Given the description of an element on the screen output the (x, y) to click on. 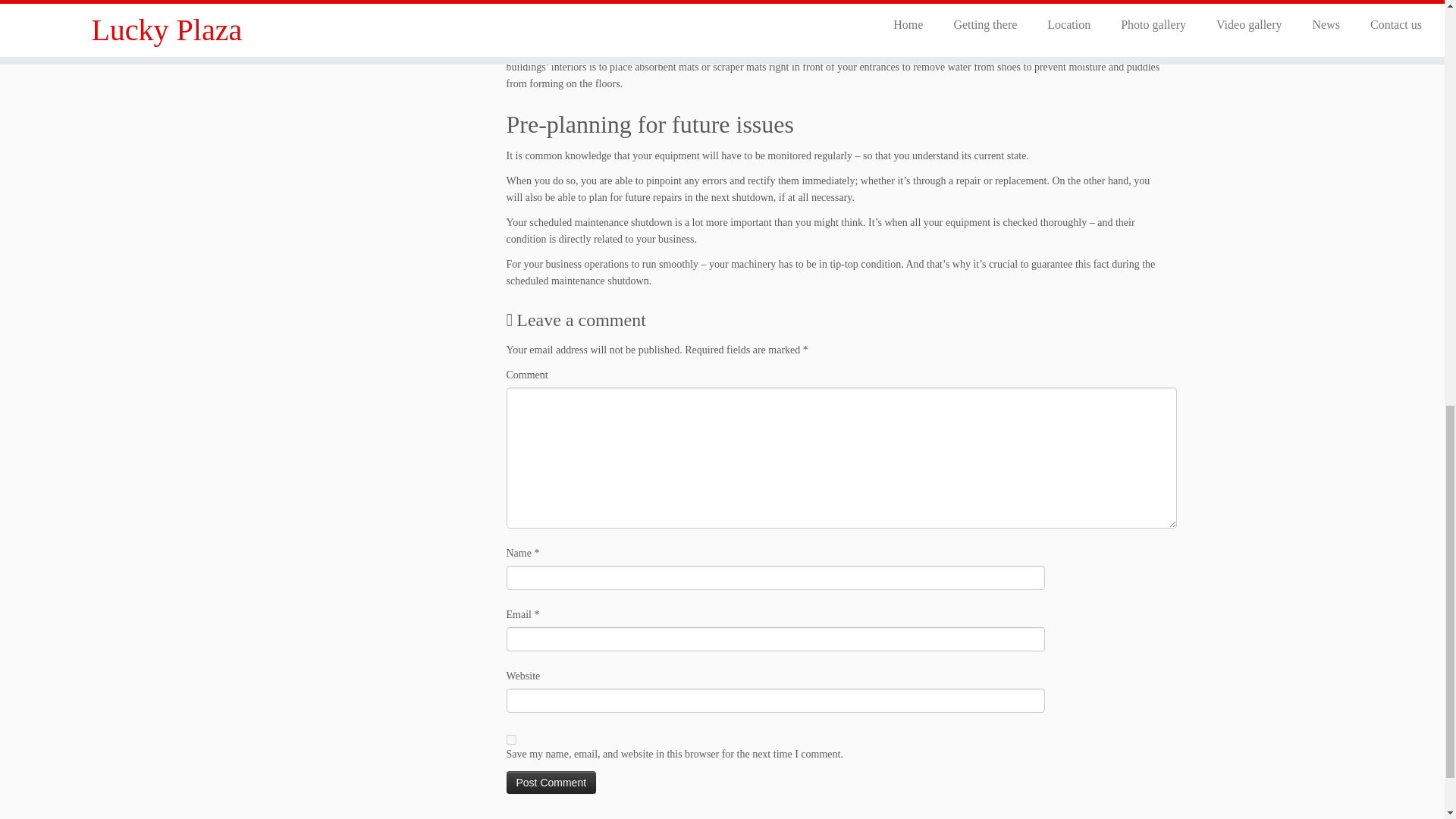
yes (511, 739)
Post Comment (551, 782)
Post Comment (551, 782)
